Given the description of an element on the screen output the (x, y) to click on. 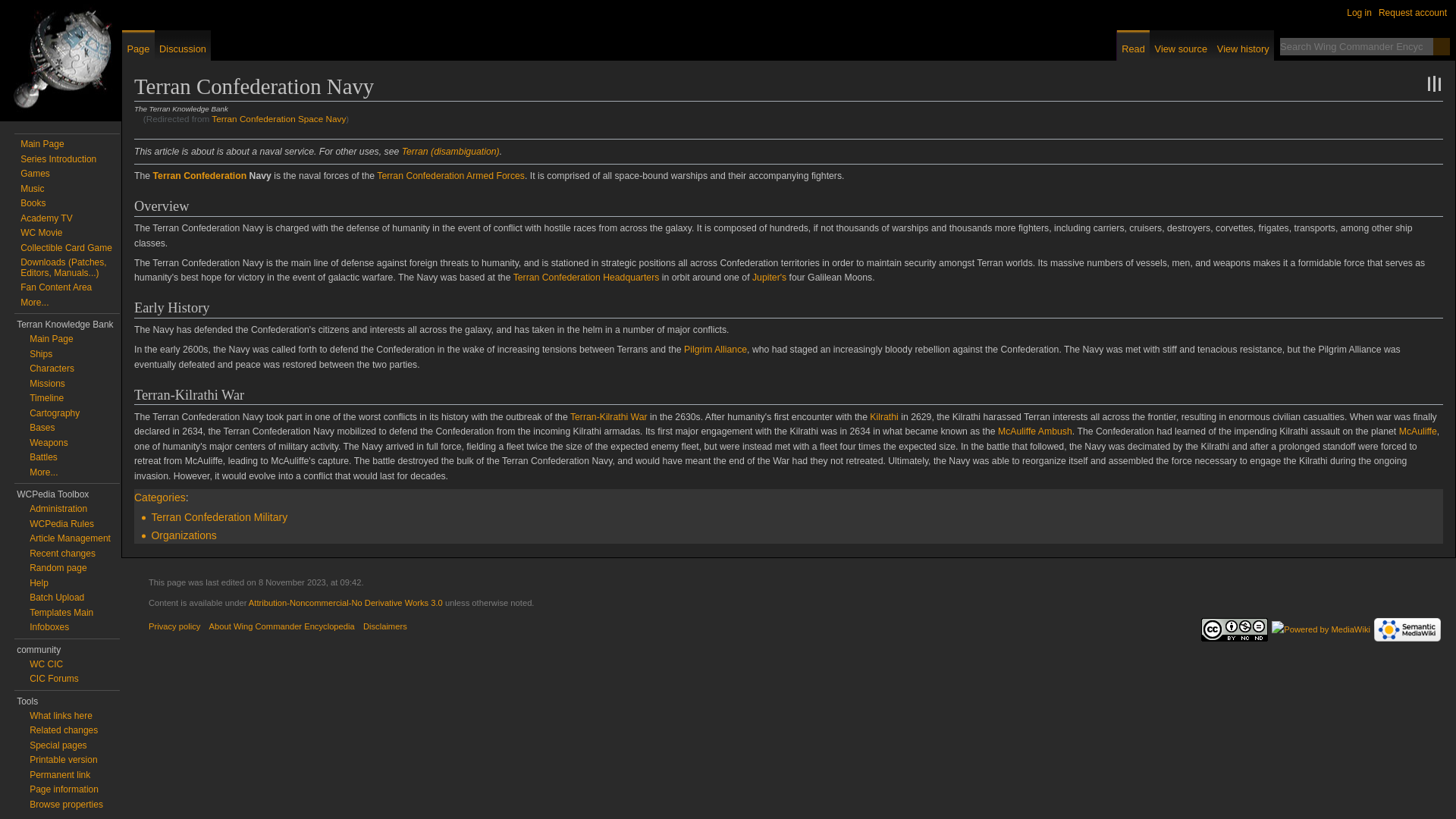
Categories (159, 497)
Academy TV (45, 217)
Log in (1358, 12)
Go (1441, 45)
Terran Confederation Armed Forces (450, 175)
McAuliffe Ambush (1034, 430)
Special:Categories (159, 497)
Jupiter's (769, 276)
Kilrathi (883, 416)
Search (1441, 45)
WC Movie (41, 232)
Collectible Card Game (66, 247)
Search (1441, 45)
Pilgrims (715, 348)
